Given the description of an element on the screen output the (x, y) to click on. 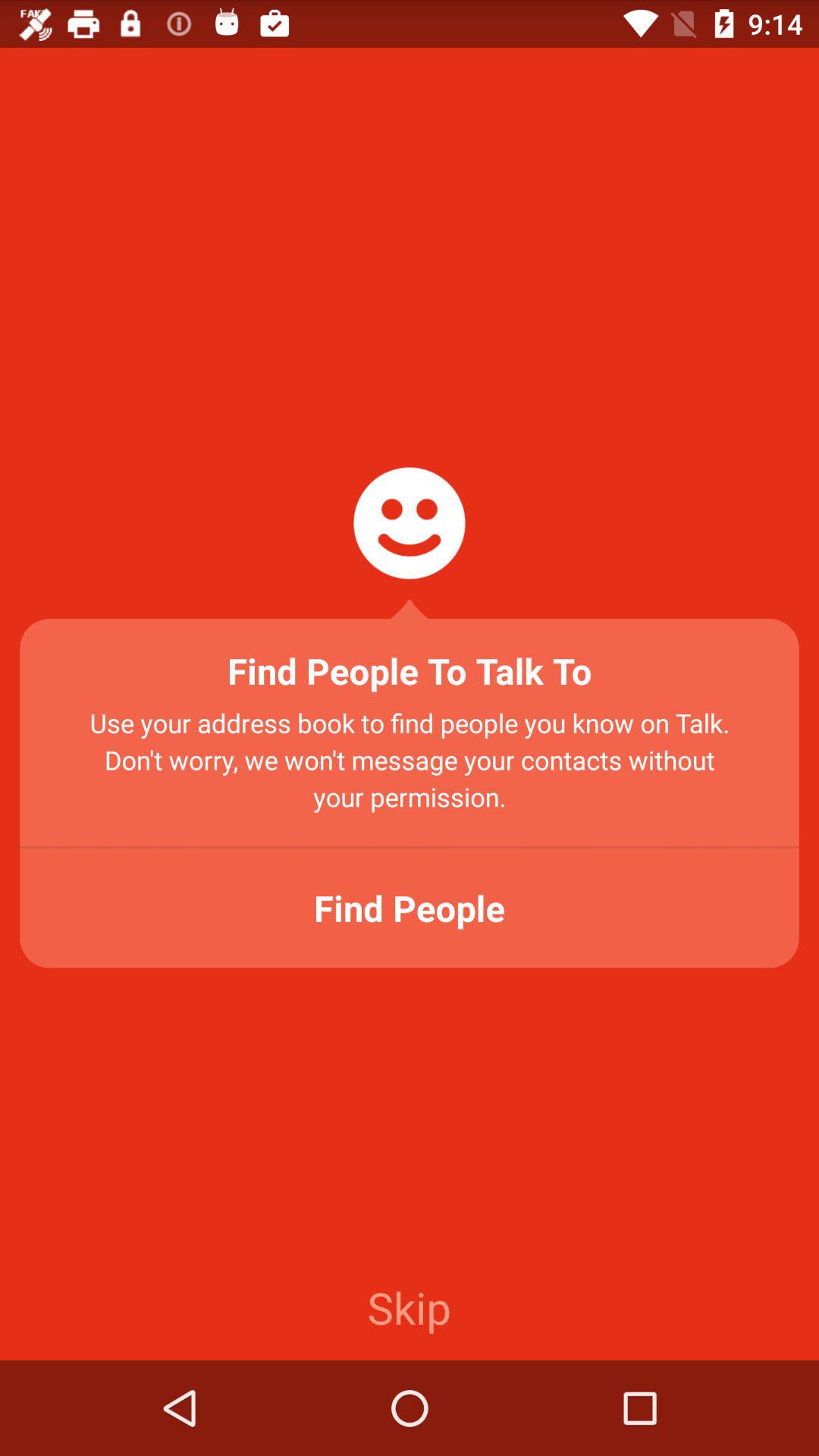
jump to the skip app (409, 1306)
